Given the description of an element on the screen output the (x, y) to click on. 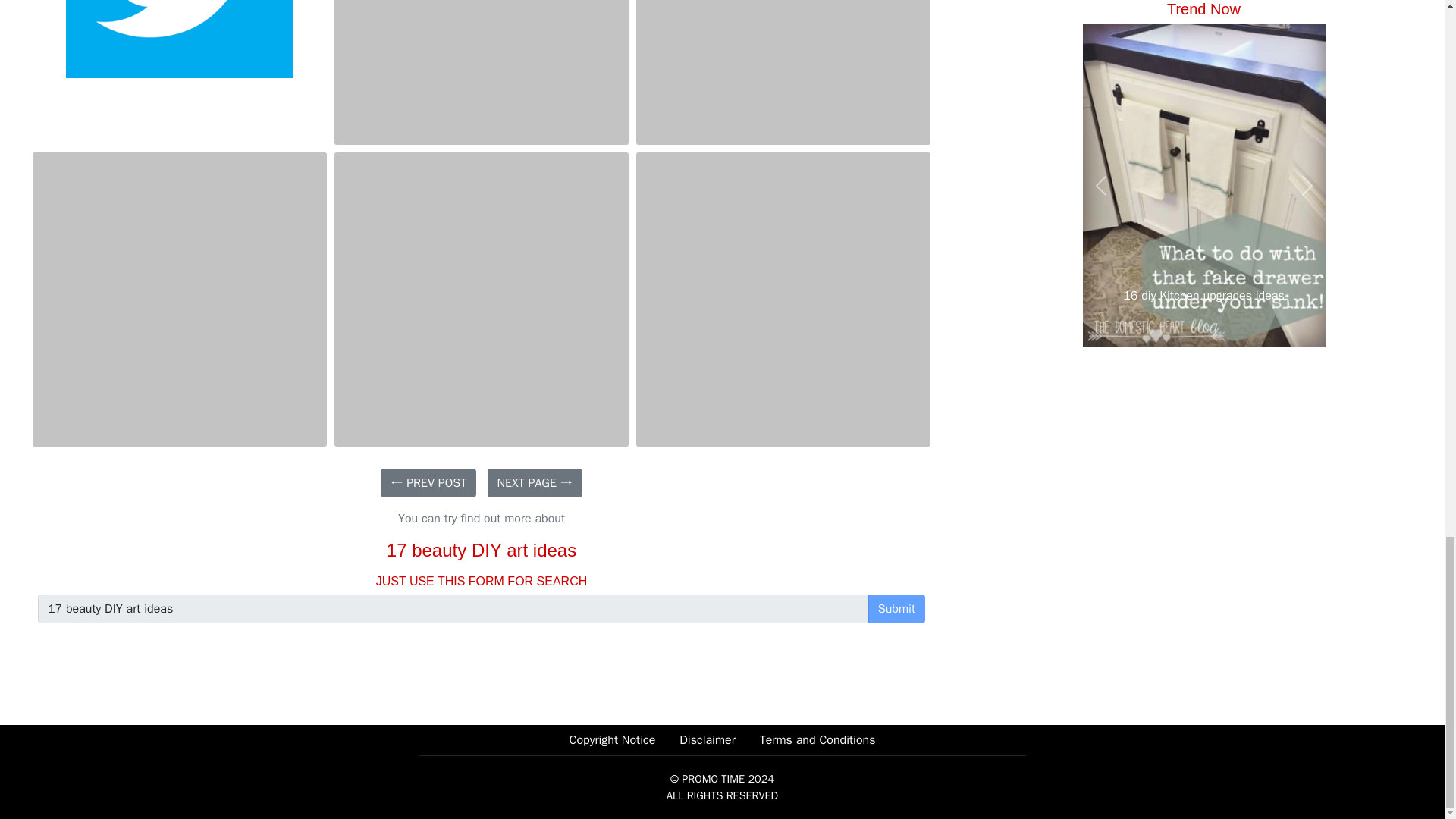
17 beauty DIY art ideas (453, 608)
Paint Scrape Notecards - DIY Art Project Idea - Persia Lou (481, 299)
